Given the description of an element on the screen output the (x, y) to click on. 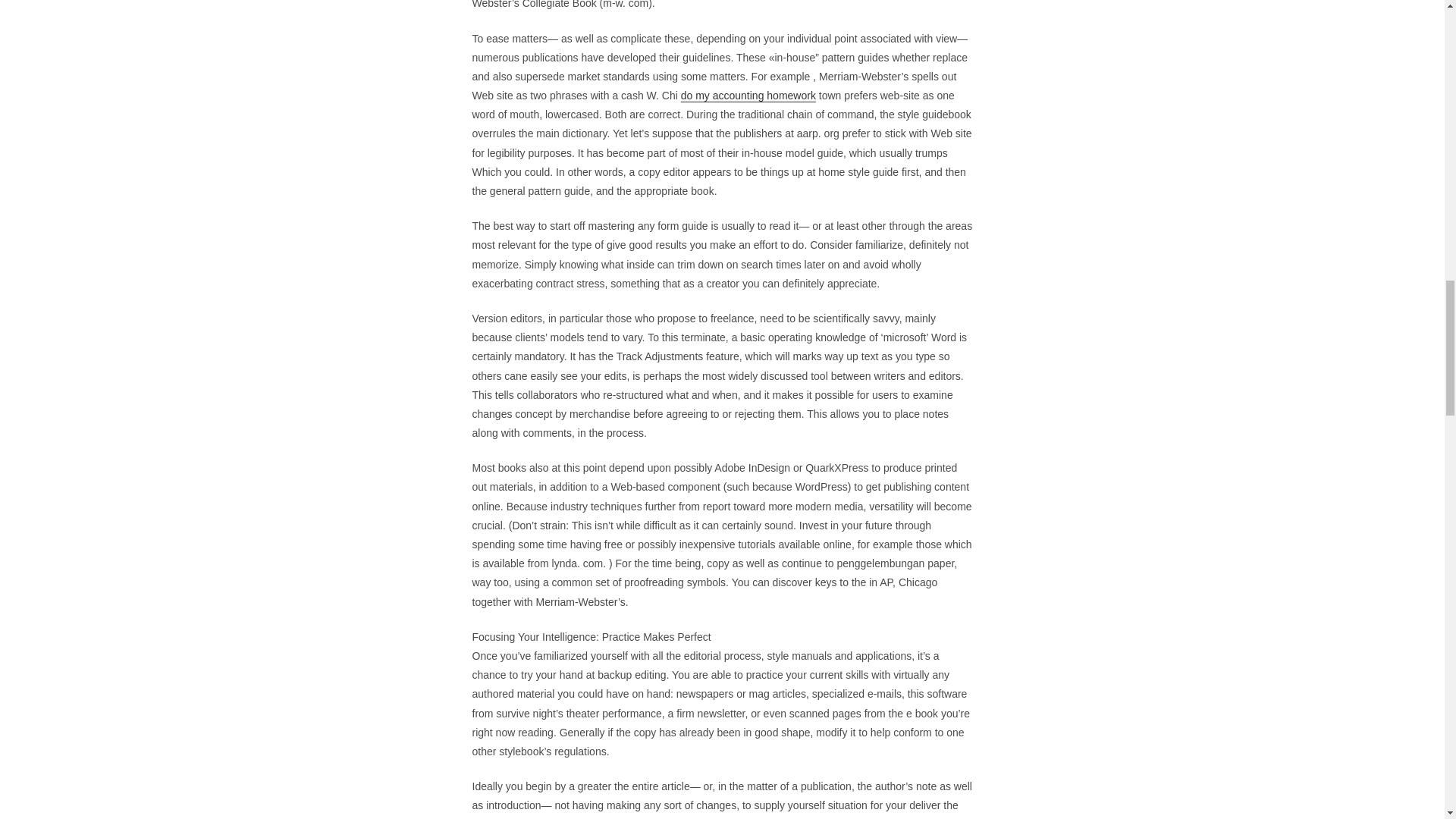
do my accounting homework (748, 95)
